Given the description of an element on the screen output the (x, y) to click on. 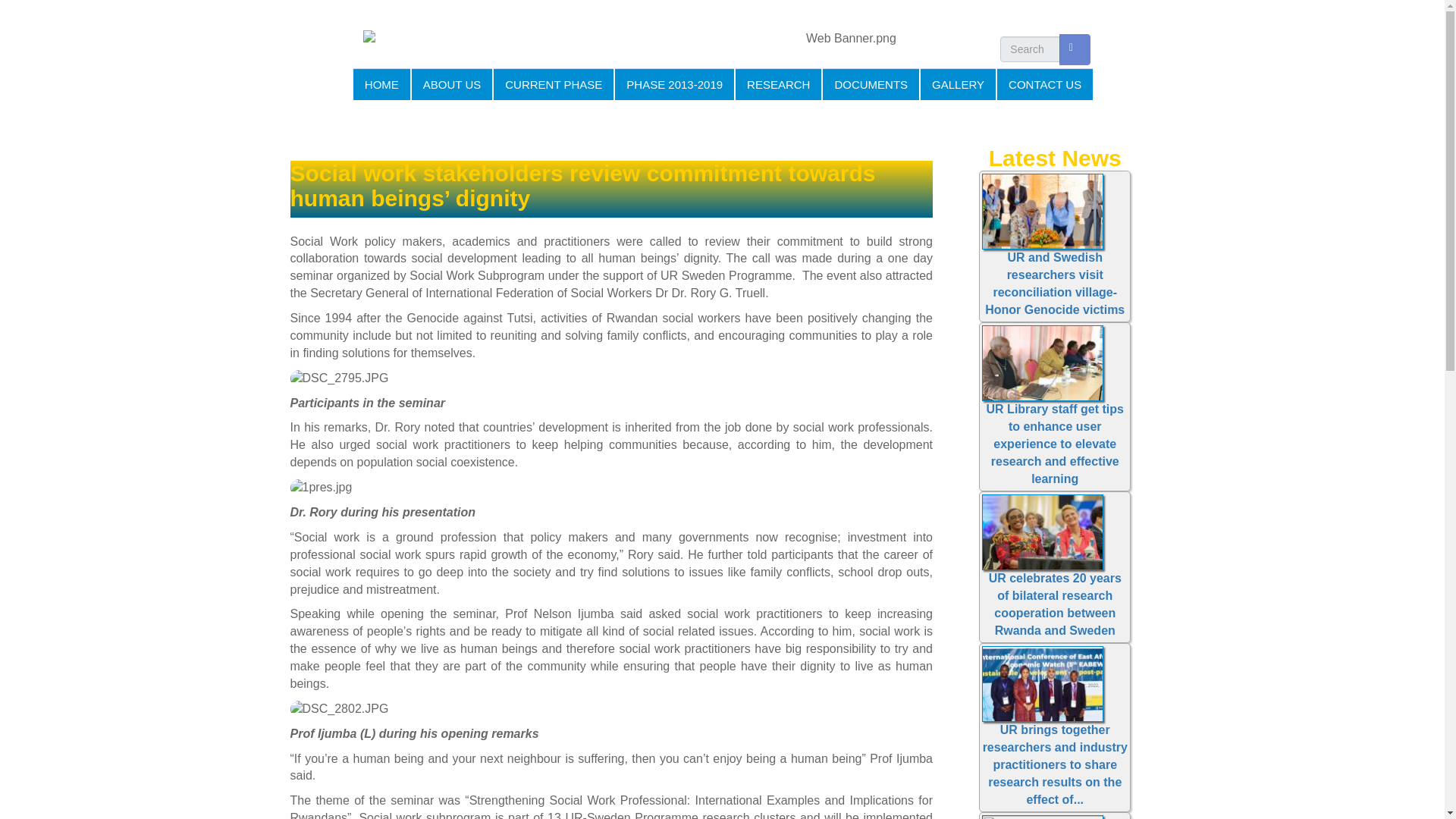
Enter the terms you wish to search for. (1029, 49)
HOME (381, 83)
PHASE 2013-2019 (672, 83)
CURRENT PHASE (552, 83)
Search (1010, 70)
ABOUT US (451, 83)
